Given the description of an element on the screen output the (x, y) to click on. 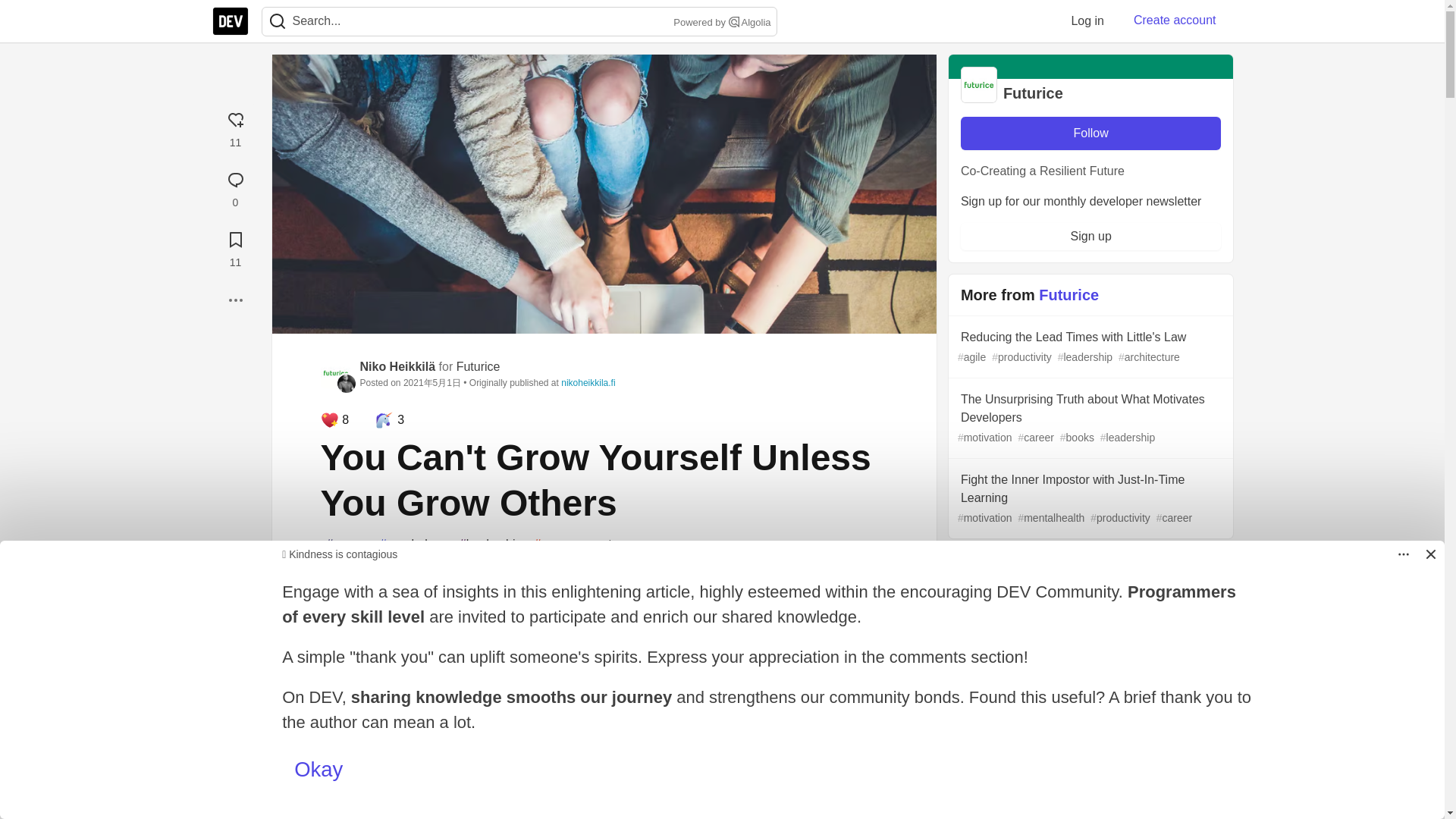
Log in (1087, 20)
Dropdown menu (1403, 554)
nikoheikkila.fi (587, 382)
Create account (1174, 20)
More... (234, 299)
More... (234, 300)
Futurice (478, 366)
11 (235, 247)
Powered by Algolia (720, 22)
Close (1430, 554)
0 (235, 187)
MyRetros (354, 660)
11 (234, 127)
